Given the description of an element on the screen output the (x, y) to click on. 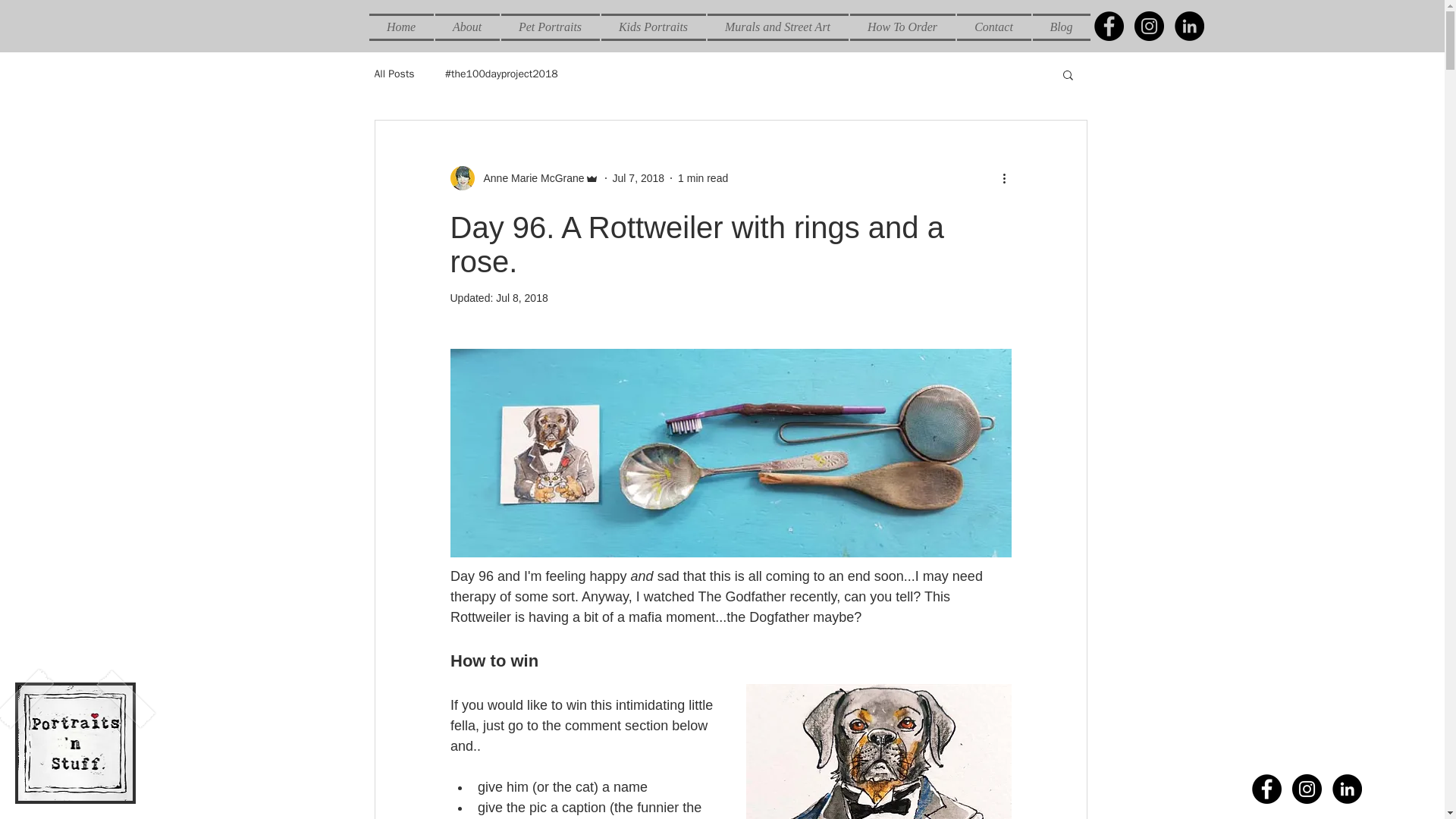
Contact (992, 26)
Kids Portraits (652, 26)
Blog (1059, 26)
Pet Portraits (549, 26)
Jul 8, 2018 (522, 297)
Home (400, 26)
About (466, 26)
Jul 7, 2018 (638, 177)
All Posts (394, 74)
How To Order (902, 26)
Anne Marie McGrane (529, 177)
1 min read (703, 177)
Murals and Street Art (777, 26)
